Given the description of an element on the screen output the (x, y) to click on. 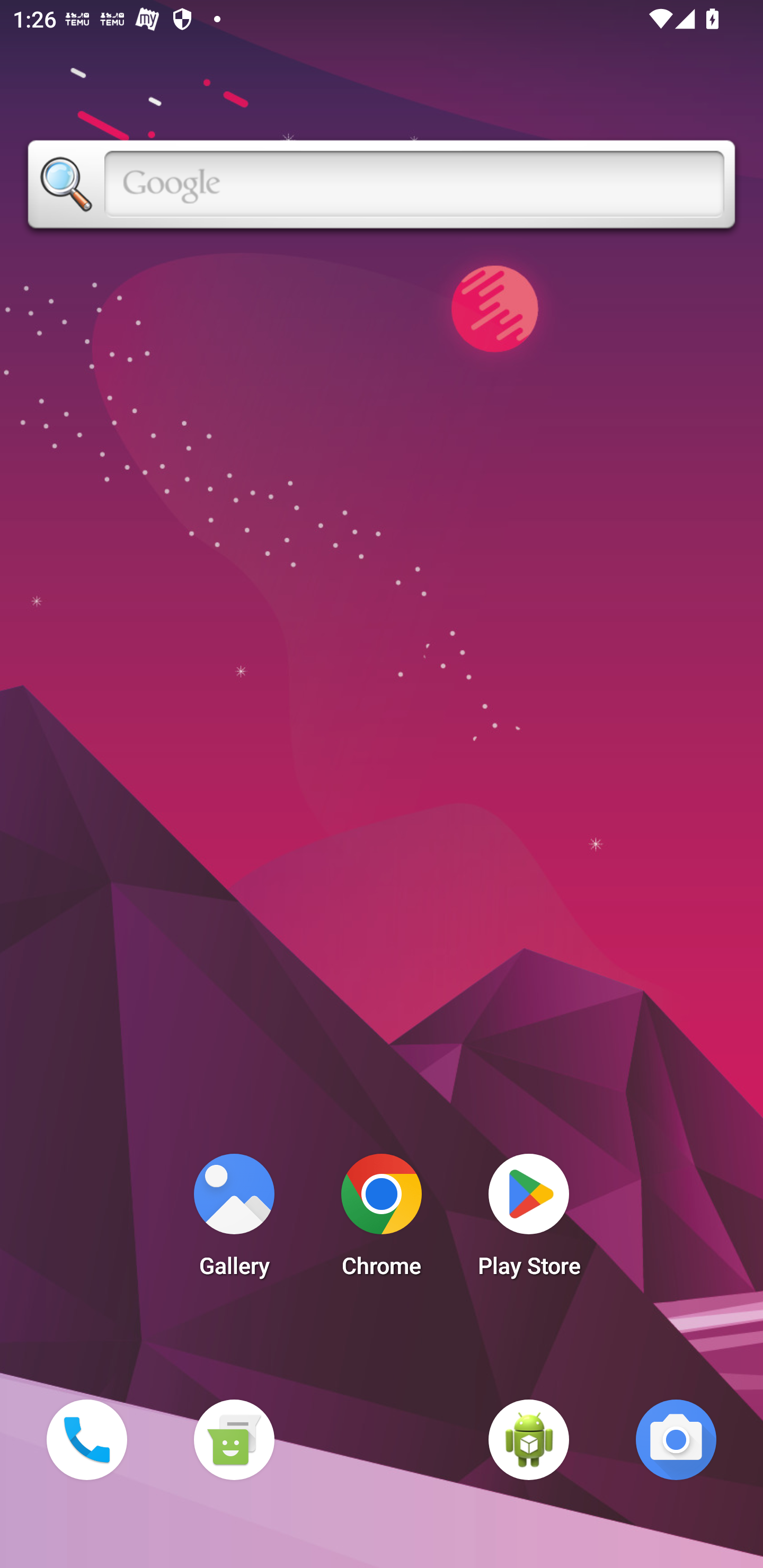
Gallery (233, 1220)
Chrome (381, 1220)
Play Store (528, 1220)
Phone (86, 1439)
Messaging (233, 1439)
WebView Browser Tester (528, 1439)
Camera (676, 1439)
